Given the description of an element on the screen output the (x, y) to click on. 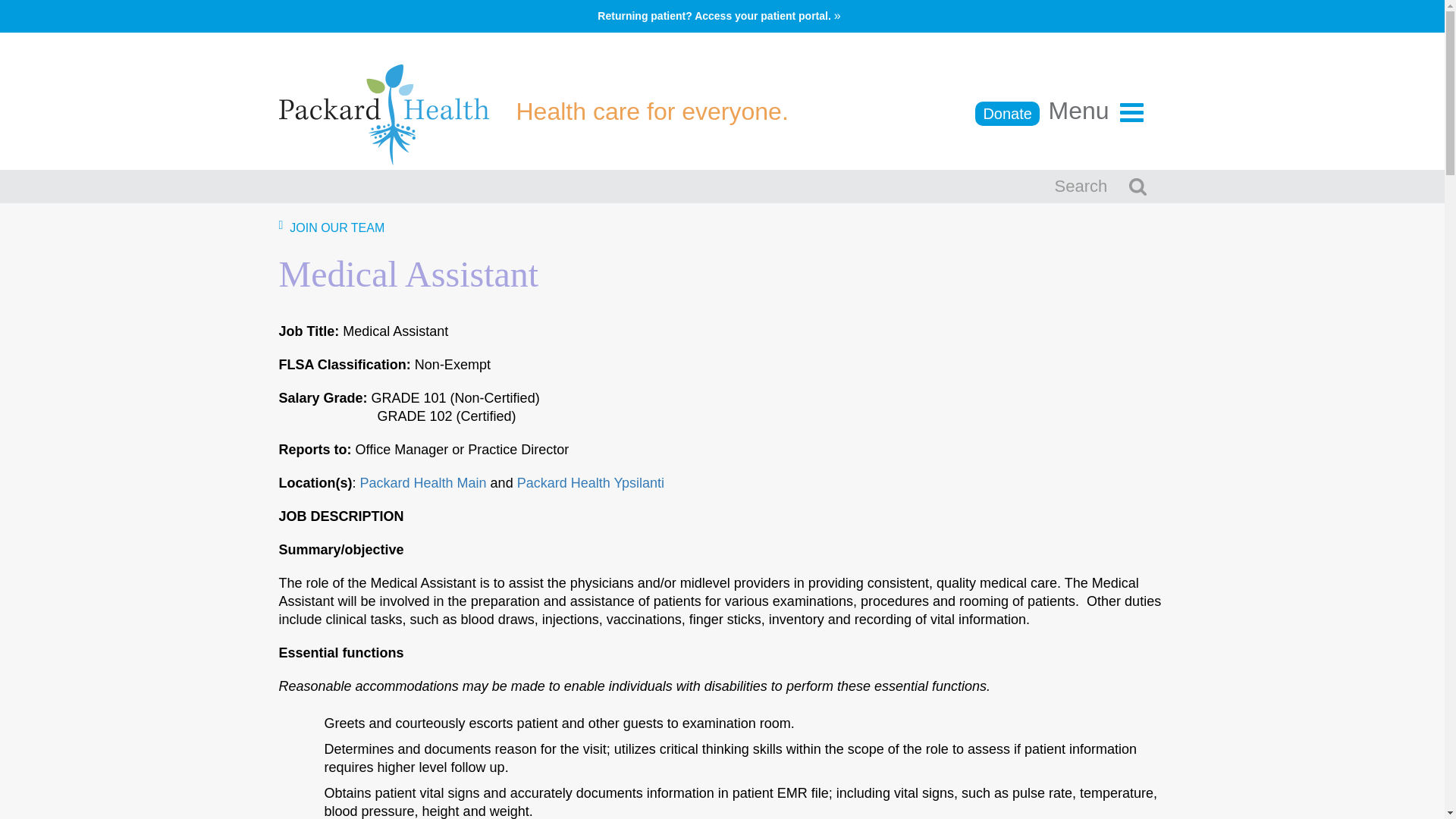
Donate (1007, 113)
Menu (1095, 110)
Returning patient? Access your patient portal. (722, 16)
